Given the description of an element on the screen output the (x, y) to click on. 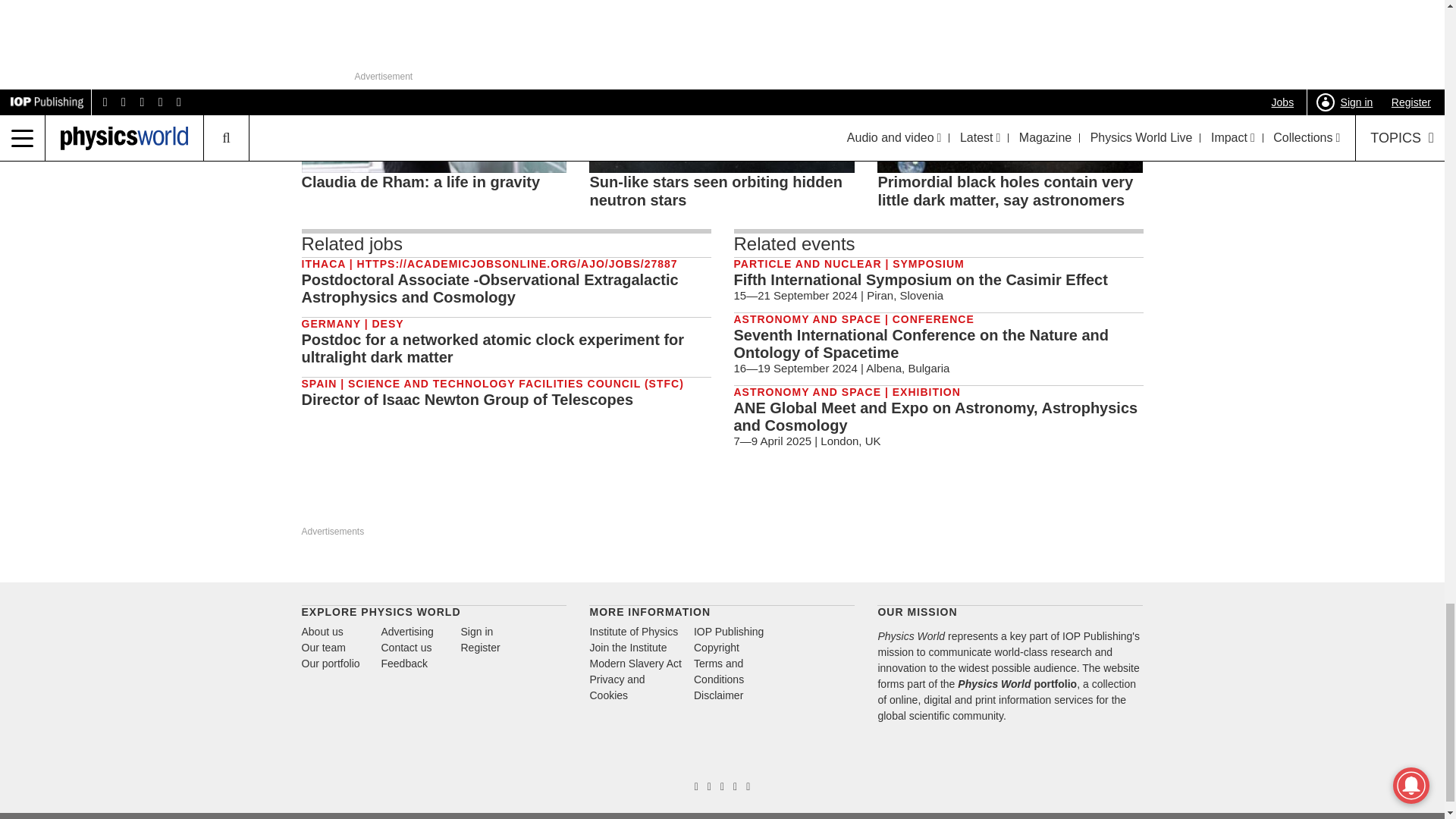
3rd party ad content (363, 503)
3rd party ad content (936, 503)
3rd party ad content (793, 503)
3rd party ad content (506, 503)
3rd party ad content (1080, 503)
3rd party ad content (650, 503)
